Given the description of an element on the screen output the (x, y) to click on. 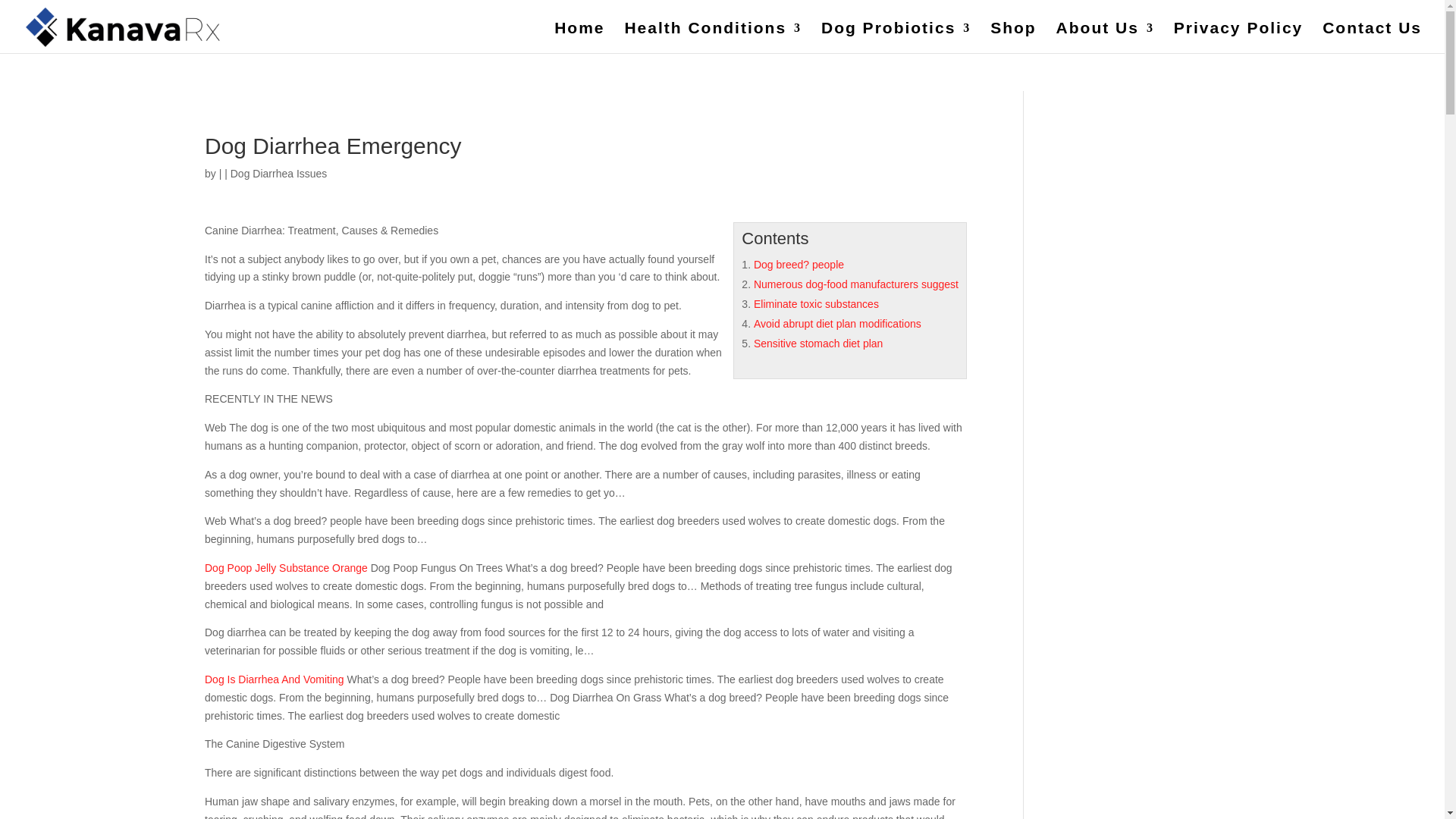
Contact Us (1372, 35)
About Us (1105, 35)
Dog Poop Jelly Substance Orange (286, 567)
Dog Is Diarrhea And Vomiting (274, 679)
Home (579, 35)
Dog Diarrhea Issues (278, 173)
Dog Probiotics (896, 35)
Health Conditions (713, 35)
Privacy Policy (1238, 35)
Dog breed? people (799, 264)
Eliminate toxic substances (816, 304)
Numerous dog-food manufacturers suggest (856, 284)
Sensitive stomach diet plan (818, 343)
Avoid abrupt diet plan modifications (837, 323)
Shop (1013, 35)
